Given the description of an element on the screen output the (x, y) to click on. 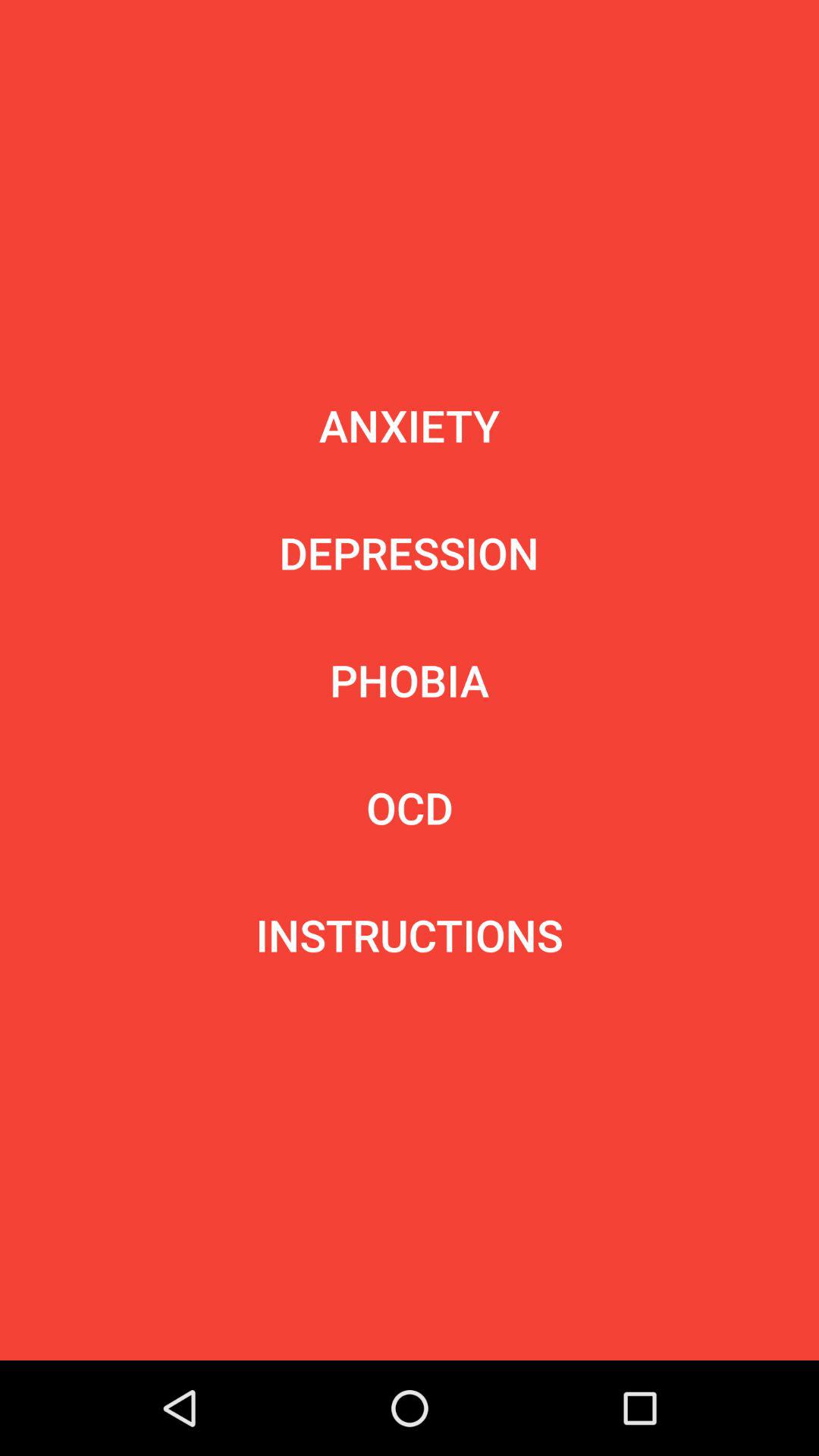
click the item below ocd (409, 934)
